Given the description of an element on the screen output the (x, y) to click on. 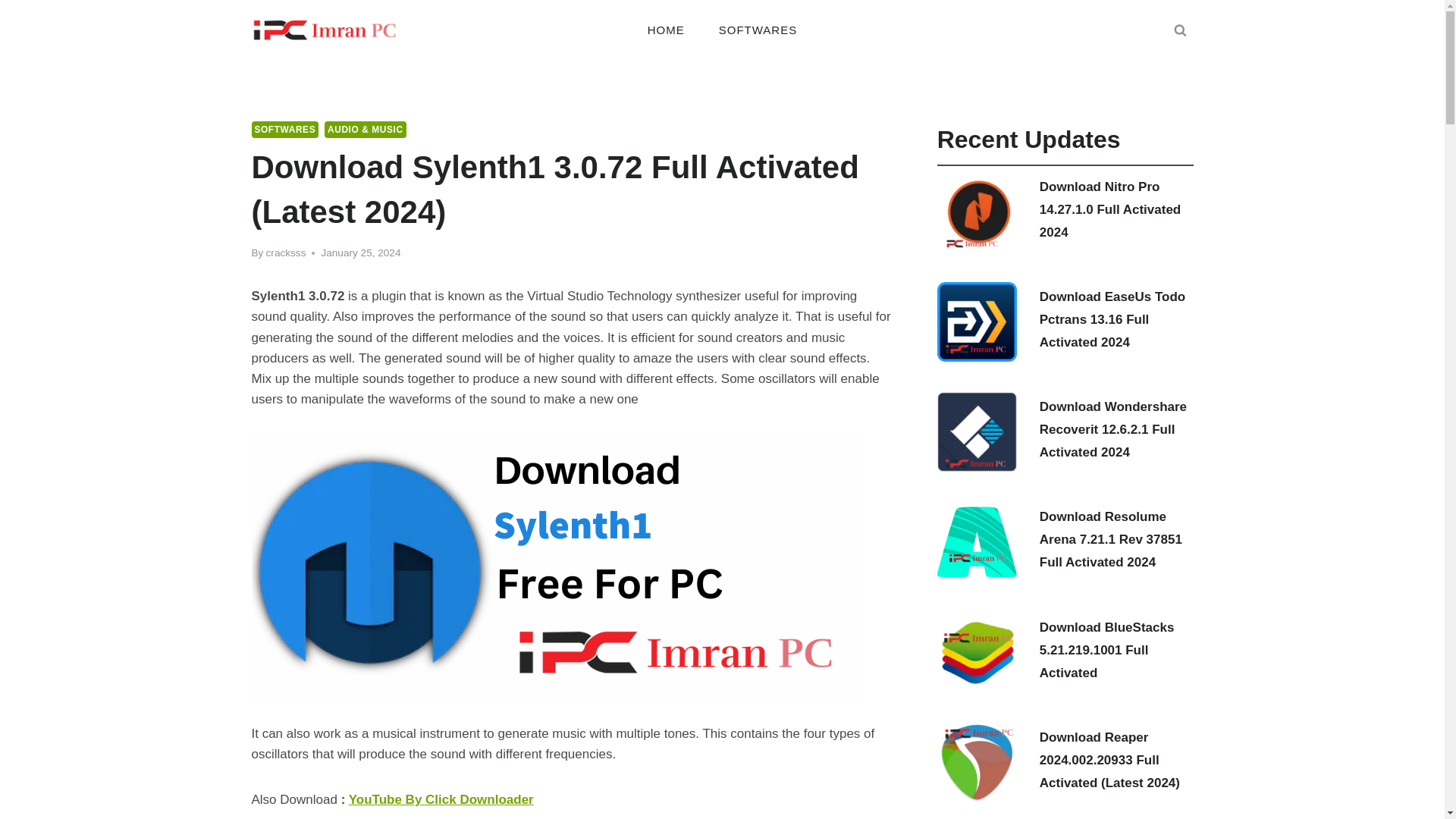
YouTube By Click Downloader (441, 799)
SOFTWARES (284, 129)
cracksss (285, 252)
SOFTWARES (757, 29)
HOME (665, 29)
